Given the description of an element on the screen output the (x, y) to click on. 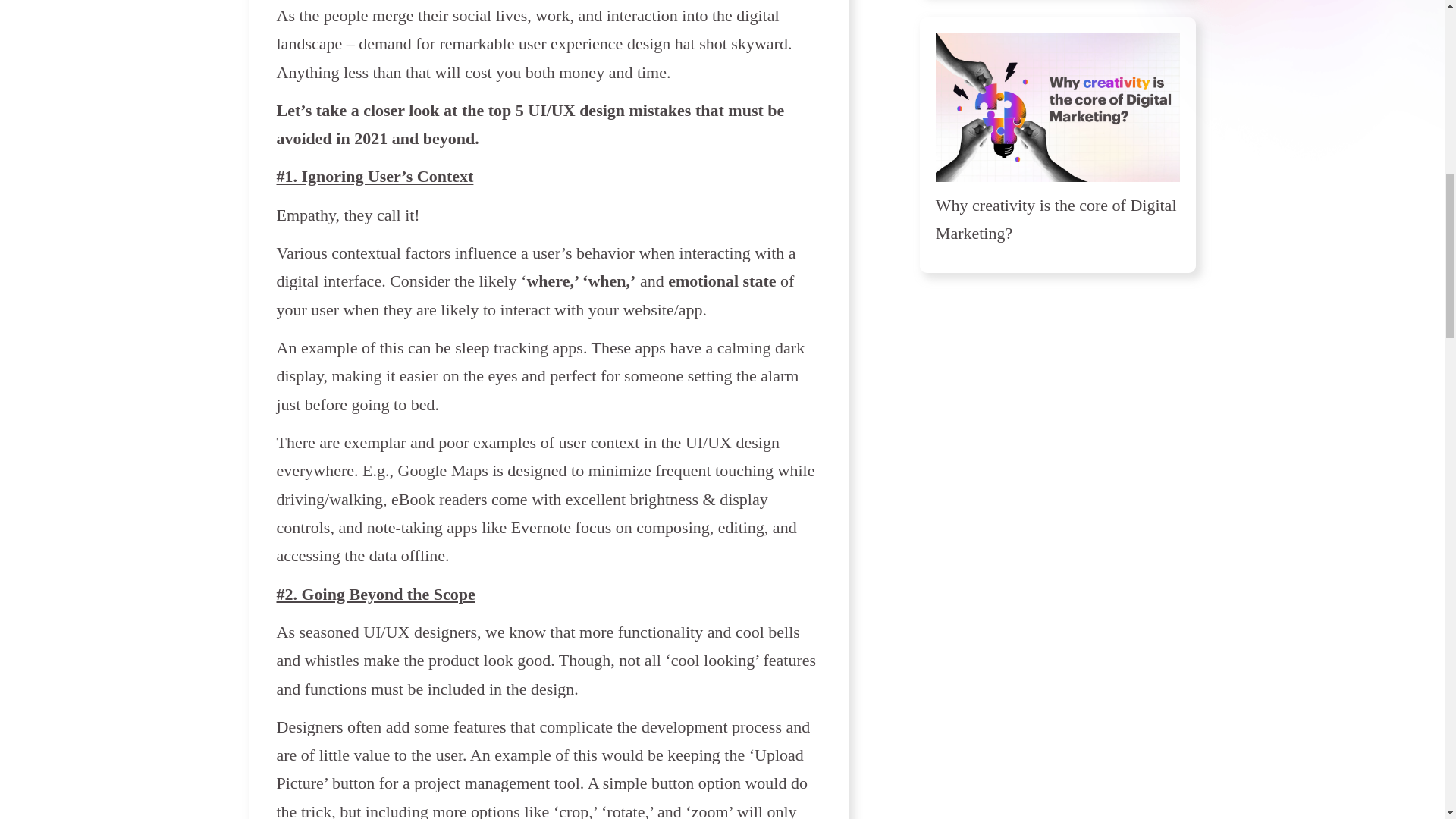
Why creativity is the core of Digital Marketing?  (1056, 218)
